Given the description of an element on the screen output the (x, y) to click on. 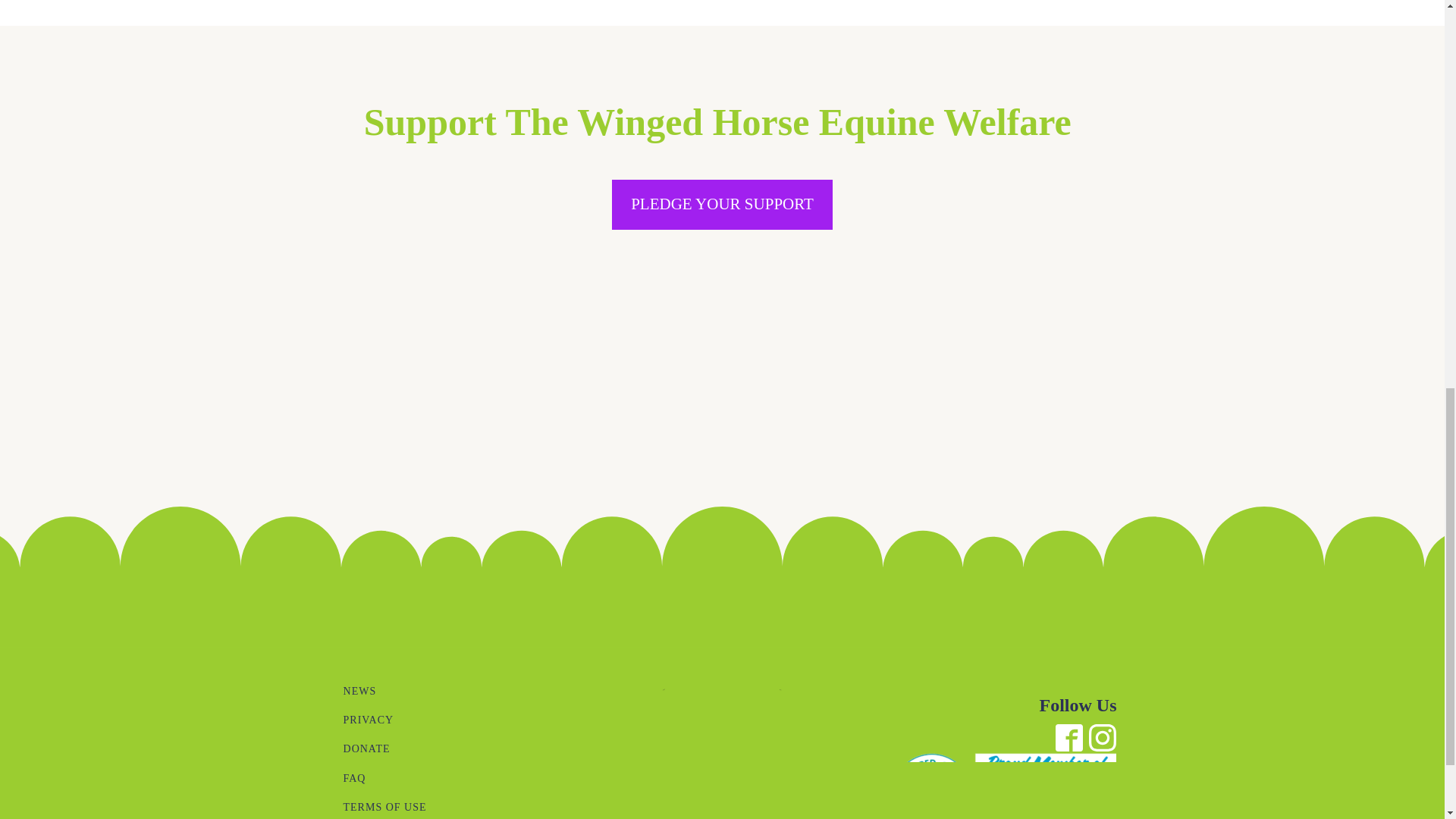
FAQ (385, 778)
PLEDGE YOUR SUPPORT (721, 204)
DONATE (385, 748)
NEWS (385, 691)
TERMS OF USE (385, 806)
PRIVACY (385, 719)
